Given the description of an element on the screen output the (x, y) to click on. 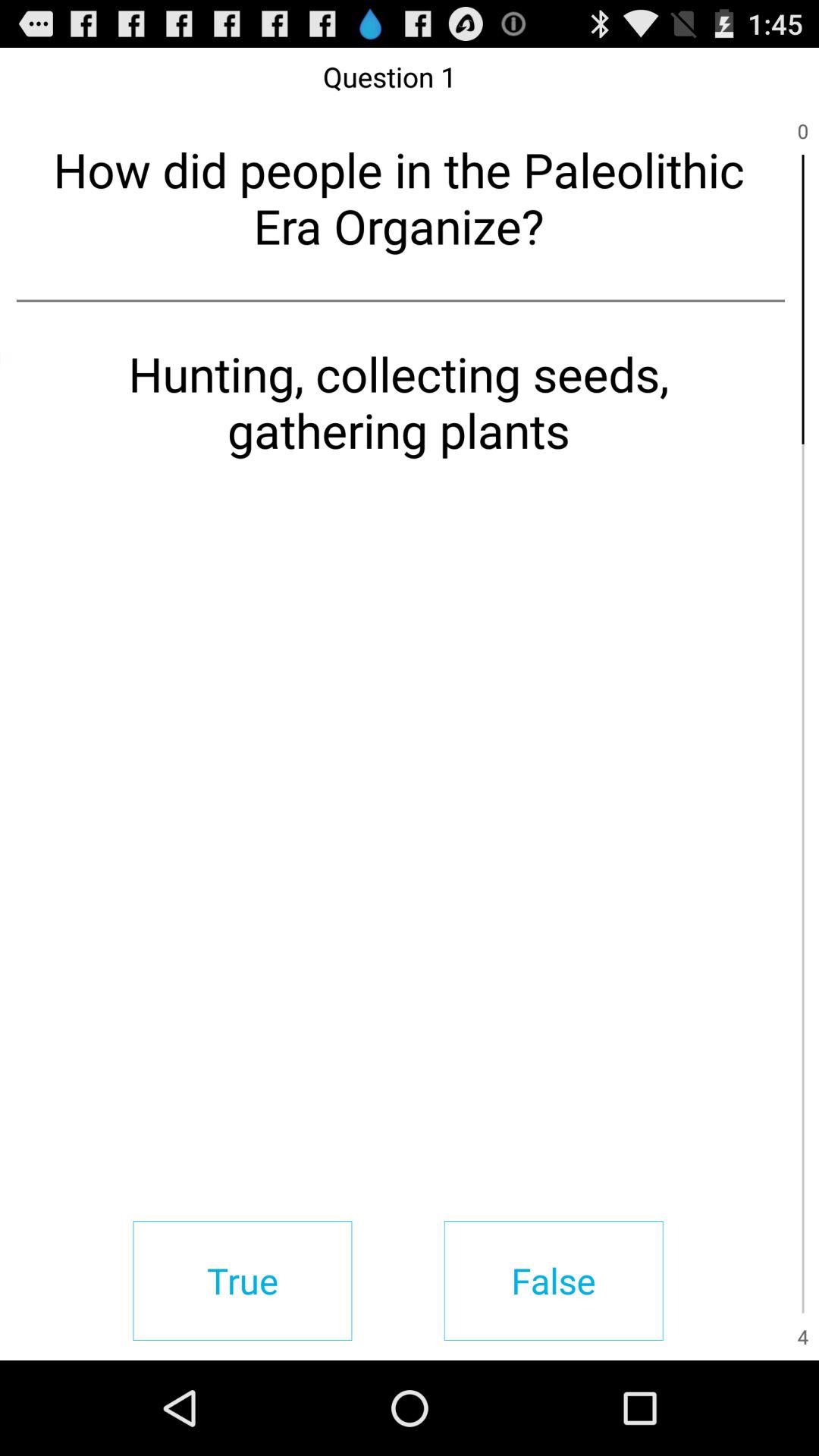
scroll until true (242, 1280)
